Given the description of an element on the screen output the (x, y) to click on. 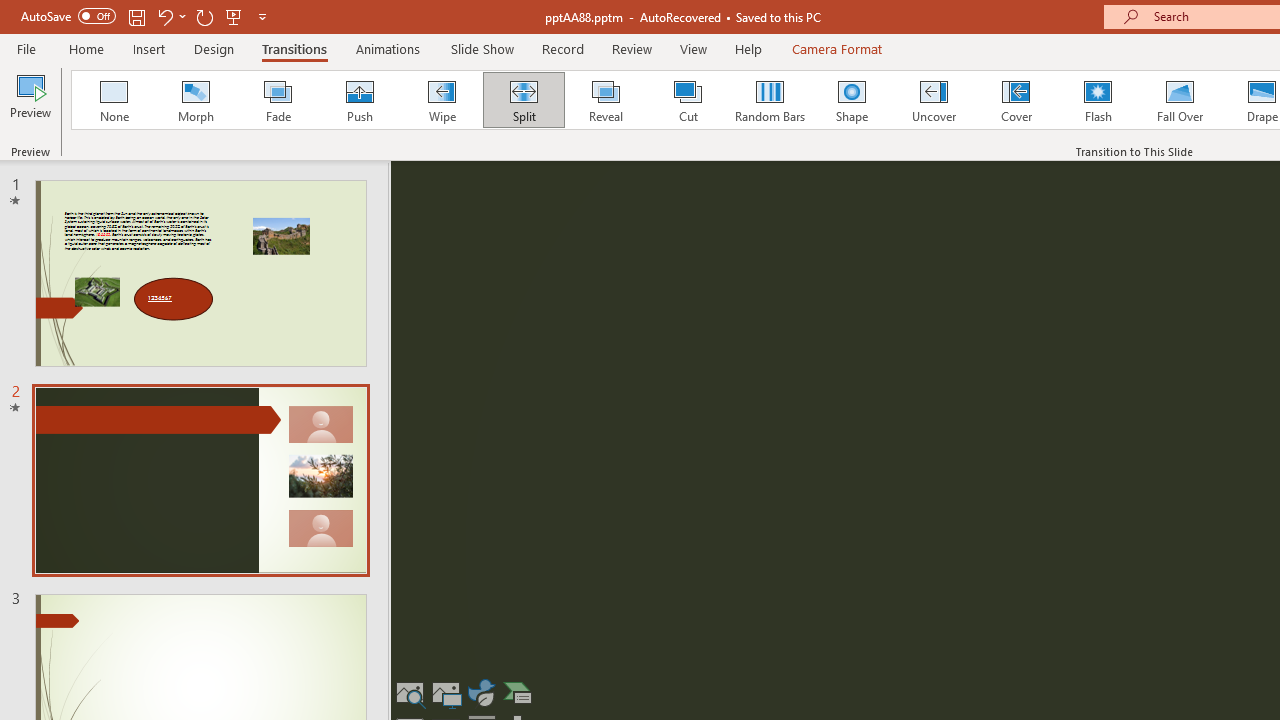
Slide (200, 480)
Morph (195, 100)
Stock Images (410, 692)
Fade (277, 100)
Wipe (441, 100)
Fall Over (1180, 100)
Reveal (605, 100)
